Given the description of an element on the screen output the (x, y) to click on. 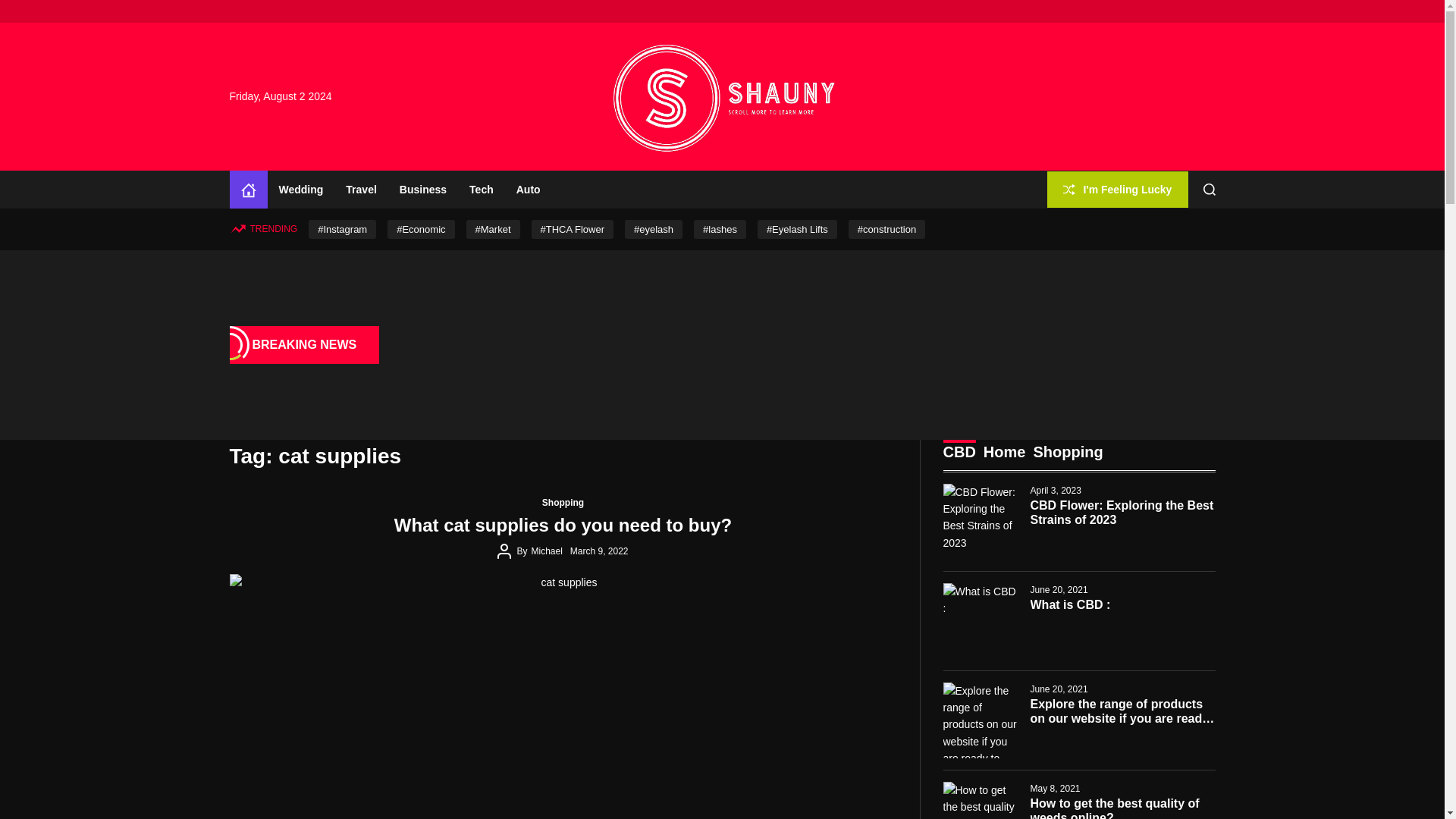
Michael (546, 551)
Tech (481, 189)
I'm Feeling Lucky (1117, 189)
Business (423, 189)
Search (1209, 189)
Home (247, 189)
What cat supplies do you need to buy? (563, 525)
Travel (360, 189)
Wedding (300, 189)
Auto (528, 189)
Shopping (562, 503)
